Given the description of an element on the screen output the (x, y) to click on. 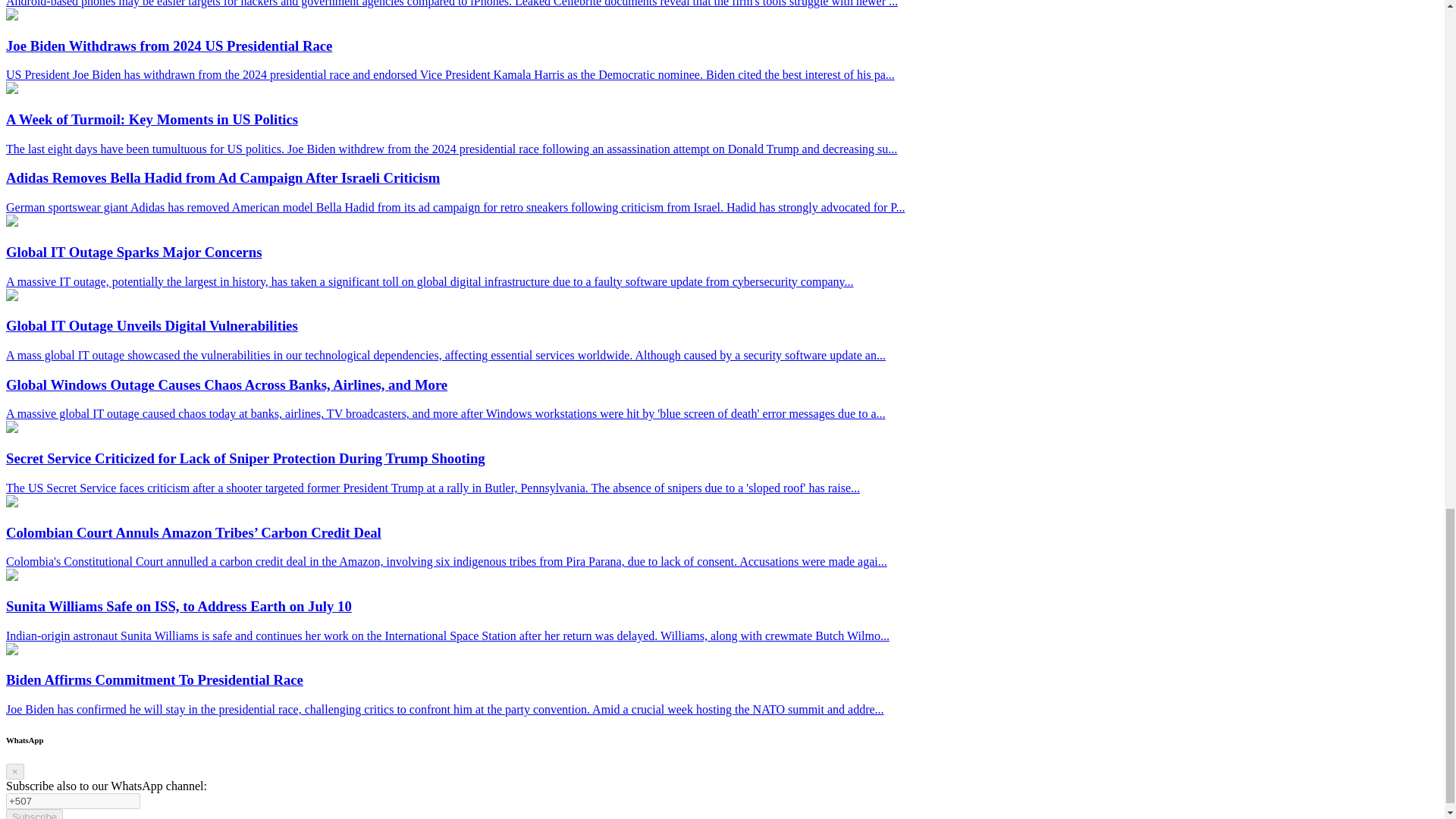
Joe Biden Withdraws from 2024 US Presidential Race (11, 15)
Global IT Outage Unveils Digital Vulnerabilities (11, 296)
Global IT Outage Sparks Major Concerns (11, 222)
Sunita Williams Safe on ISS, to Address Earth on July 10 (11, 576)
A Week of Turmoil: Key Moments in US Politics (11, 89)
